Given the description of an element on the screen output the (x, y) to click on. 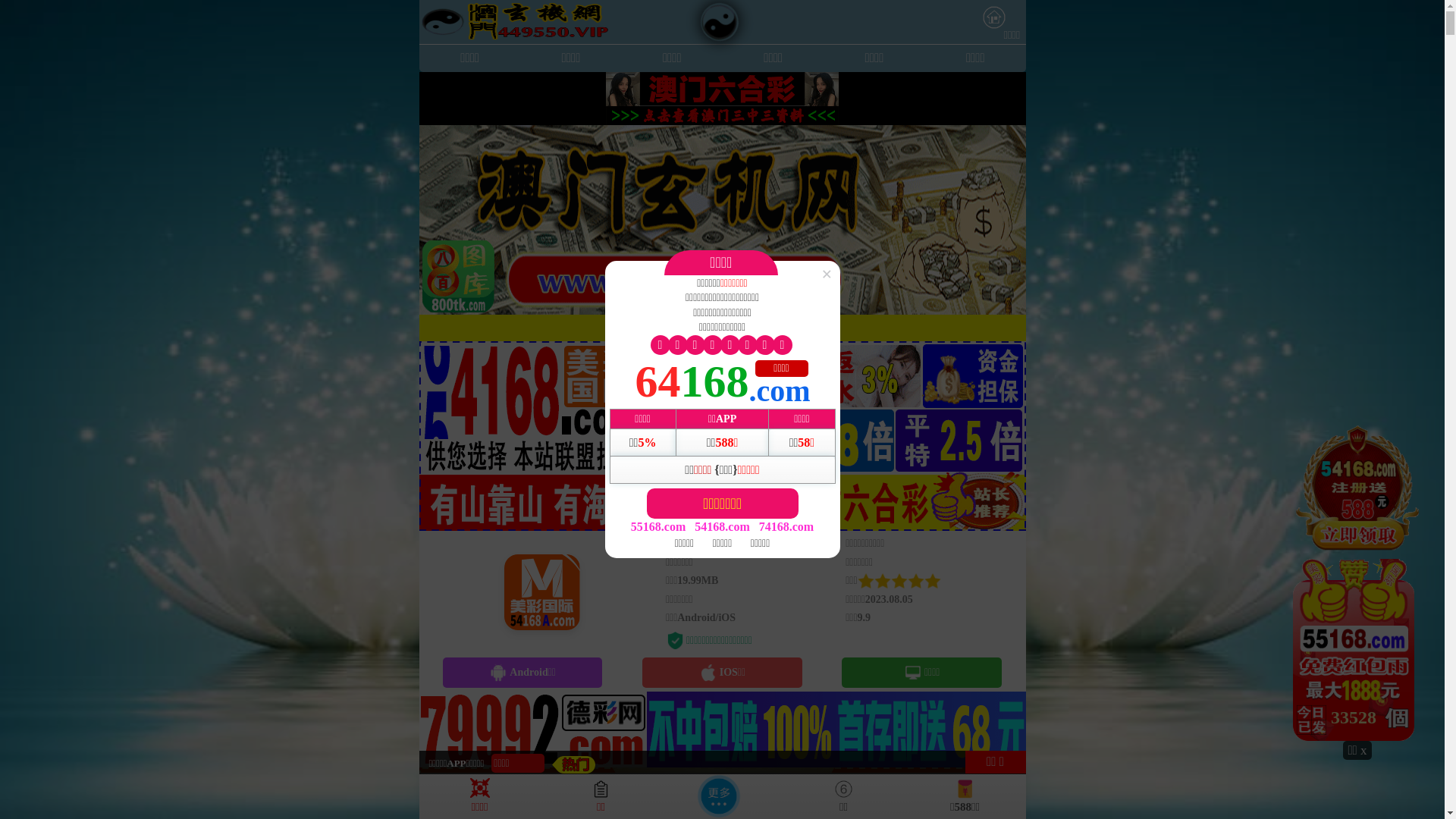
33957 Element type: text (1356, 582)
